Given the description of an element on the screen output the (x, y) to click on. 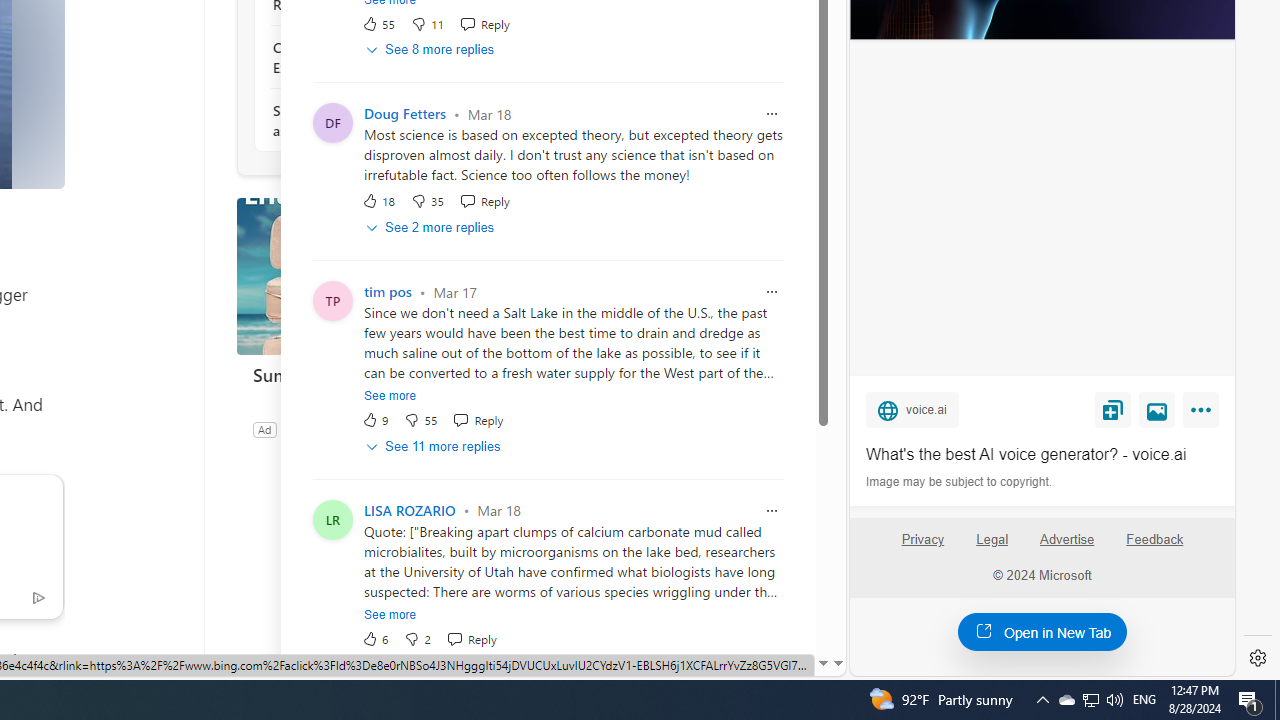
Privacy (922, 547)
Feedback (1155, 539)
View image (1157, 409)
voice.ai (912, 409)
Privacy (922, 539)
tim pos (387, 292)
LISA ROZARIO (409, 510)
See 2 more replies (431, 228)
More (1204, 413)
9 Like (375, 420)
Doug Fetters (404, 114)
Report comment (771, 510)
Ad Choice (514, 429)
